Given the description of an element on the screen output the (x, y) to click on. 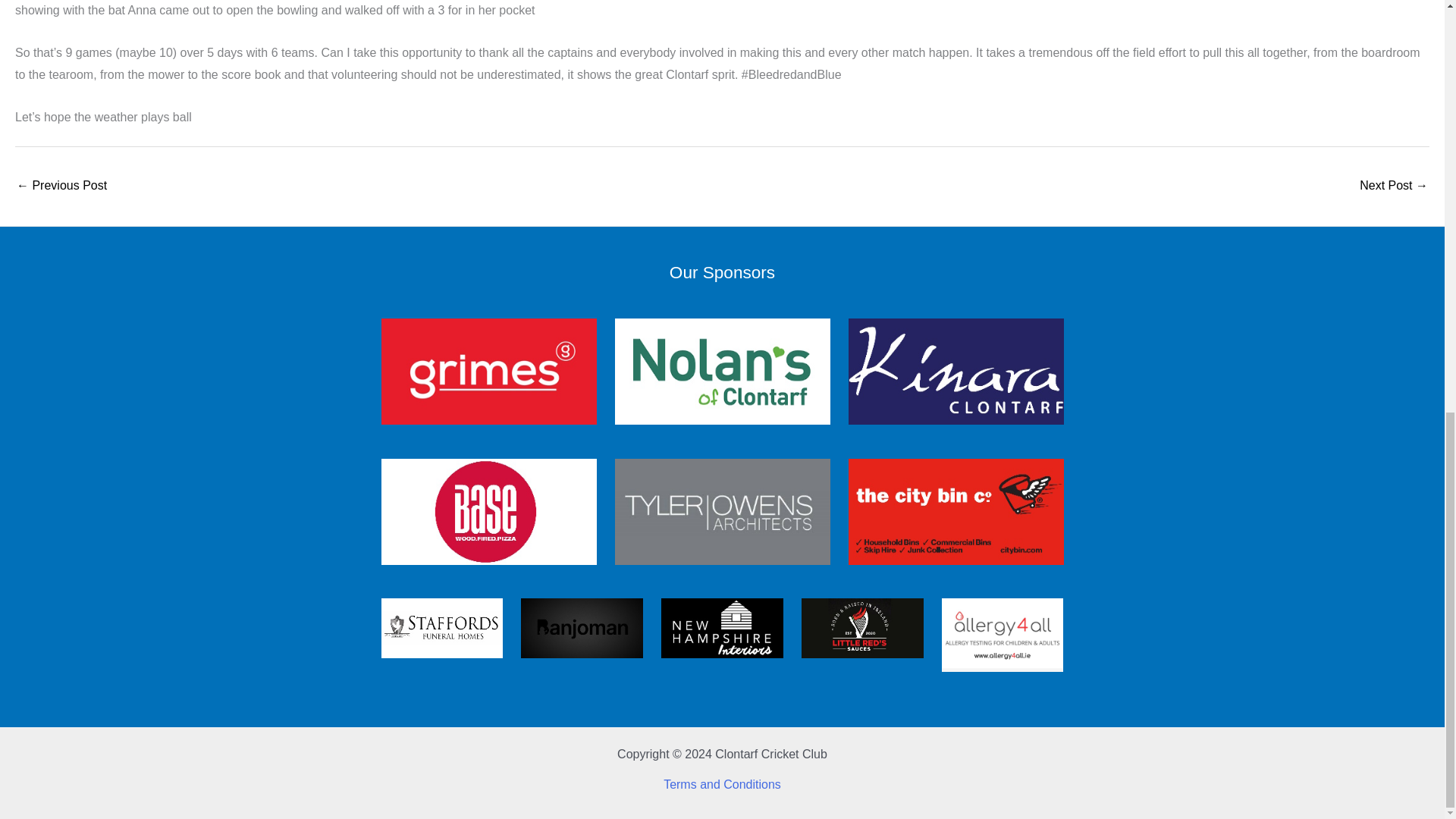
Weekend's fixtures (61, 186)
Race Night (1393, 186)
